Given the description of an element on the screen output the (x, y) to click on. 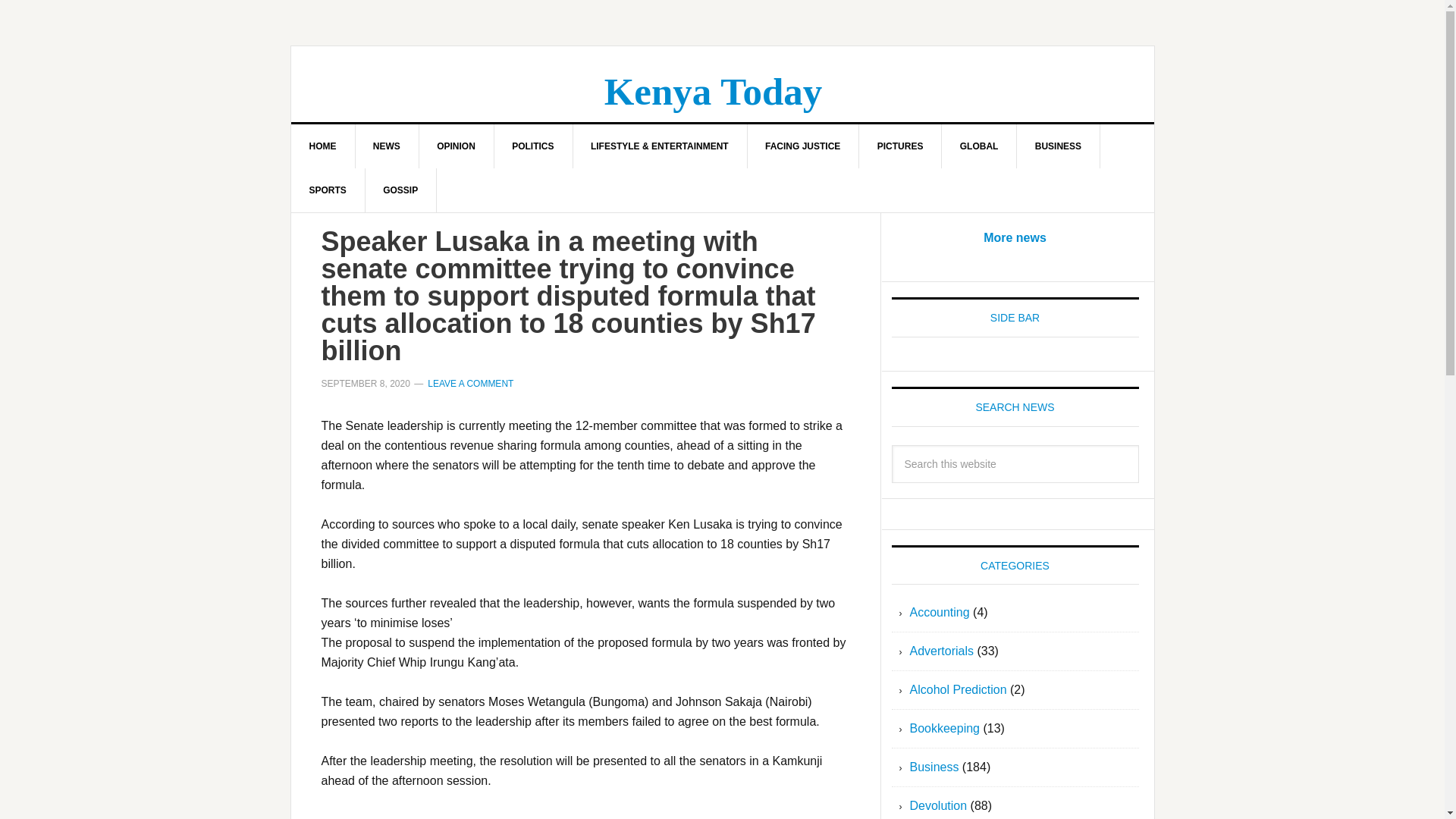
OPINION (457, 146)
BUSINESS (1058, 146)
Devolution (939, 805)
PICTURES (900, 146)
Accounting (939, 612)
POLITICS (532, 146)
GLOBAL (979, 146)
